Given the description of an element on the screen output the (x, y) to click on. 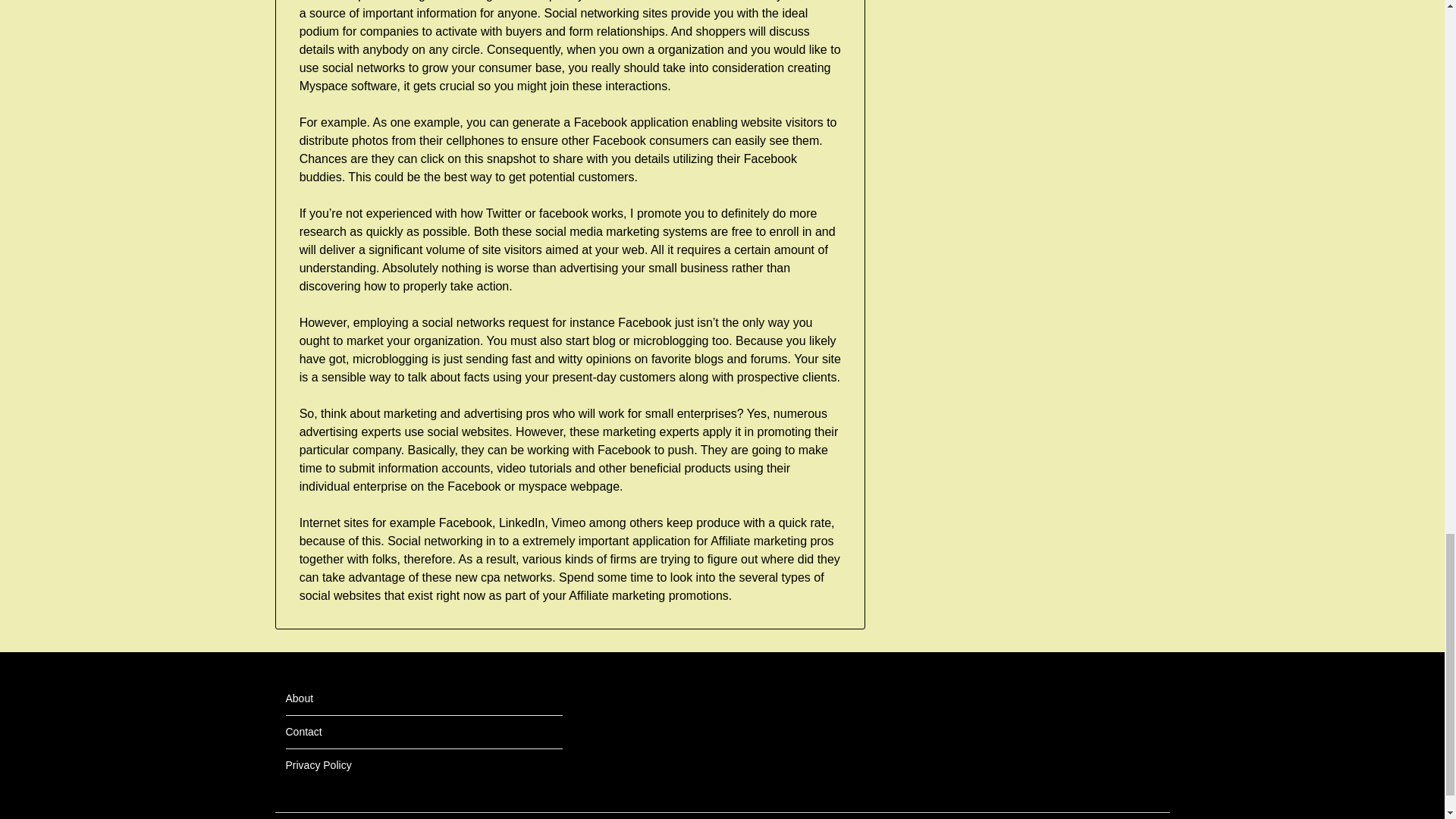
About (299, 698)
Contact (303, 731)
Privacy Policy (317, 765)
